Given the description of an element on the screen output the (x, y) to click on. 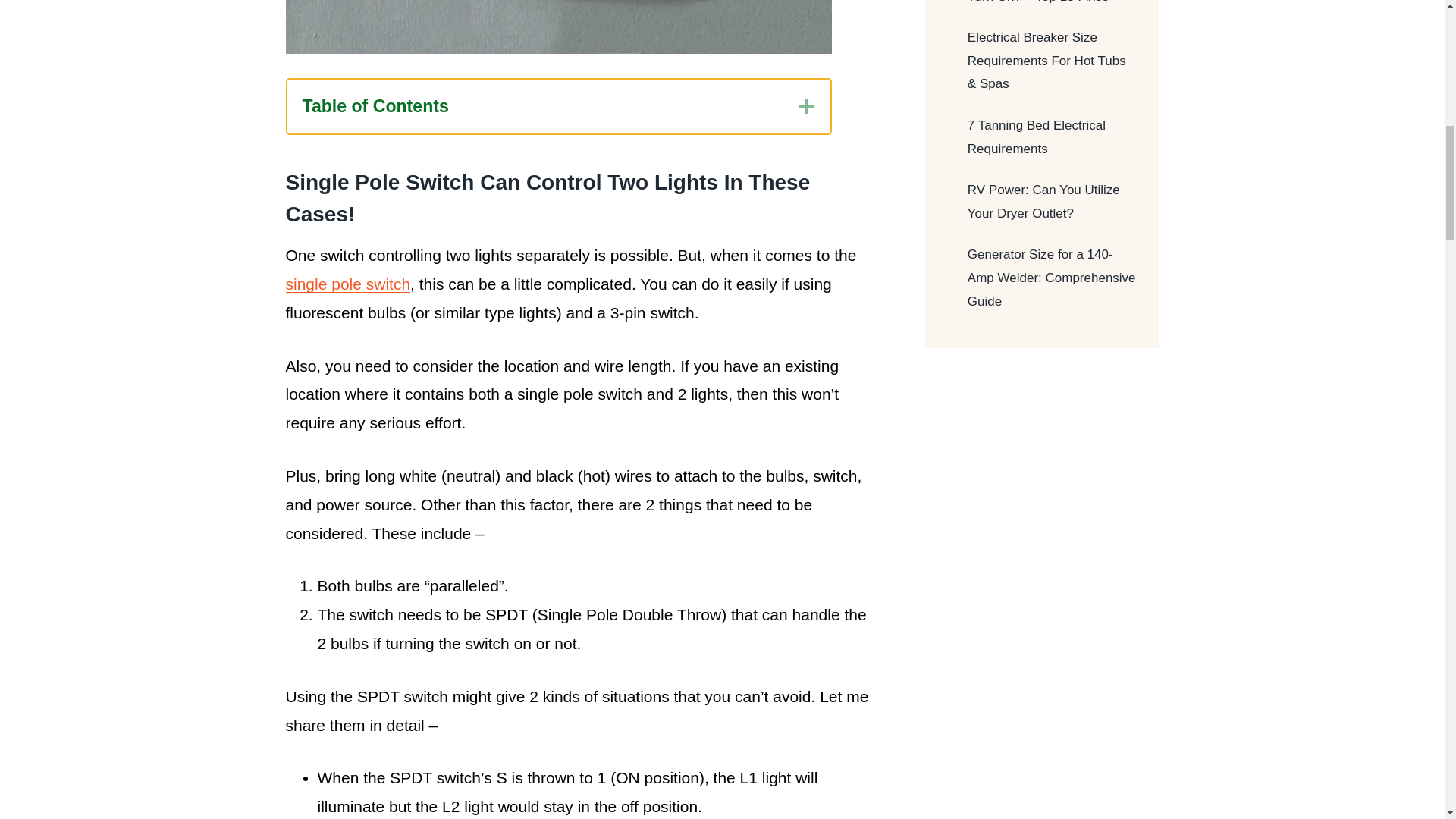
single pole switch (347, 283)
